Given the description of an element on the screen output the (x, y) to click on. 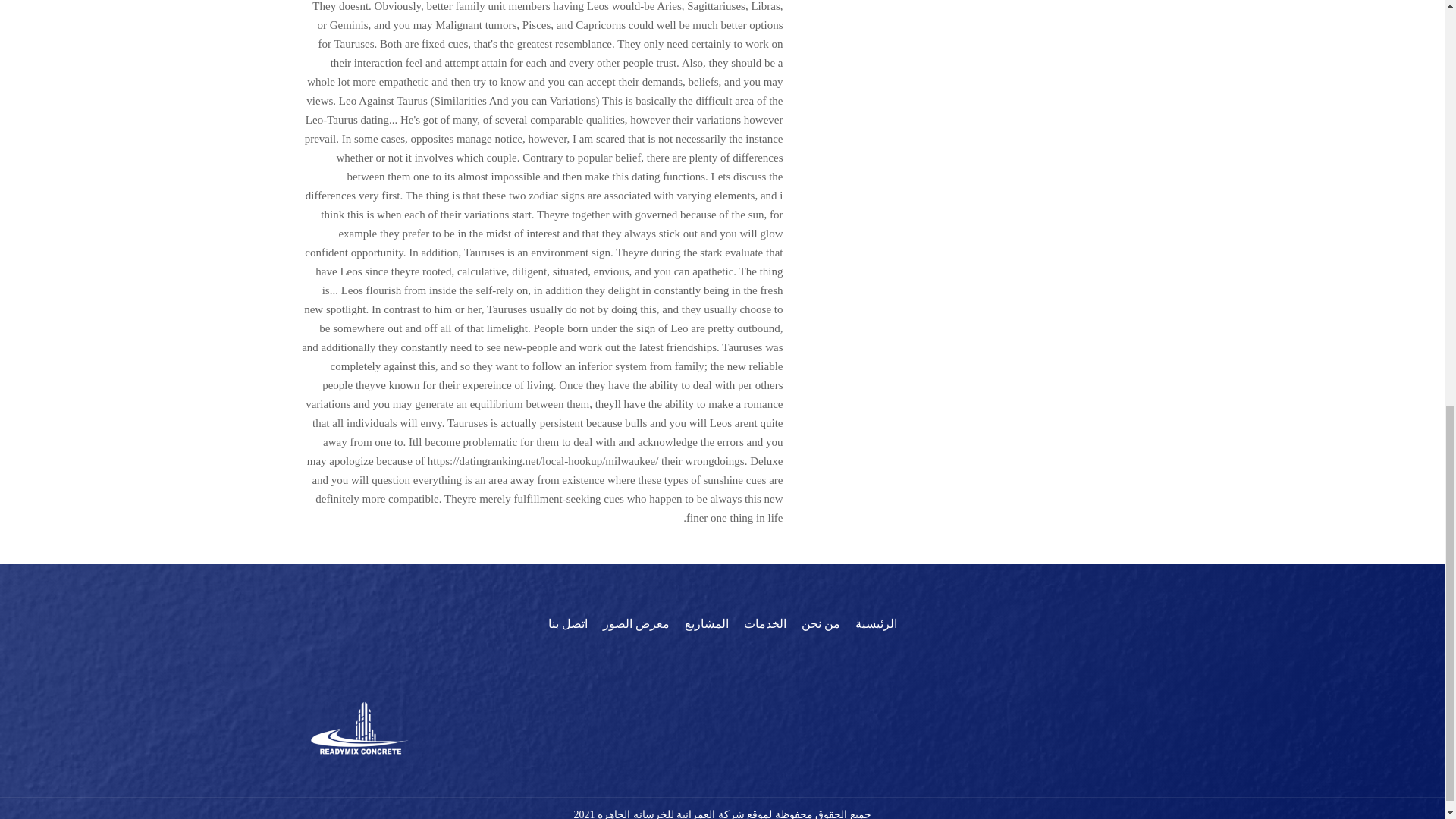
SJO777 (721, 535)
Slot Gacor Terpercaya (721, 554)
